Given the description of an element on the screen output the (x, y) to click on. 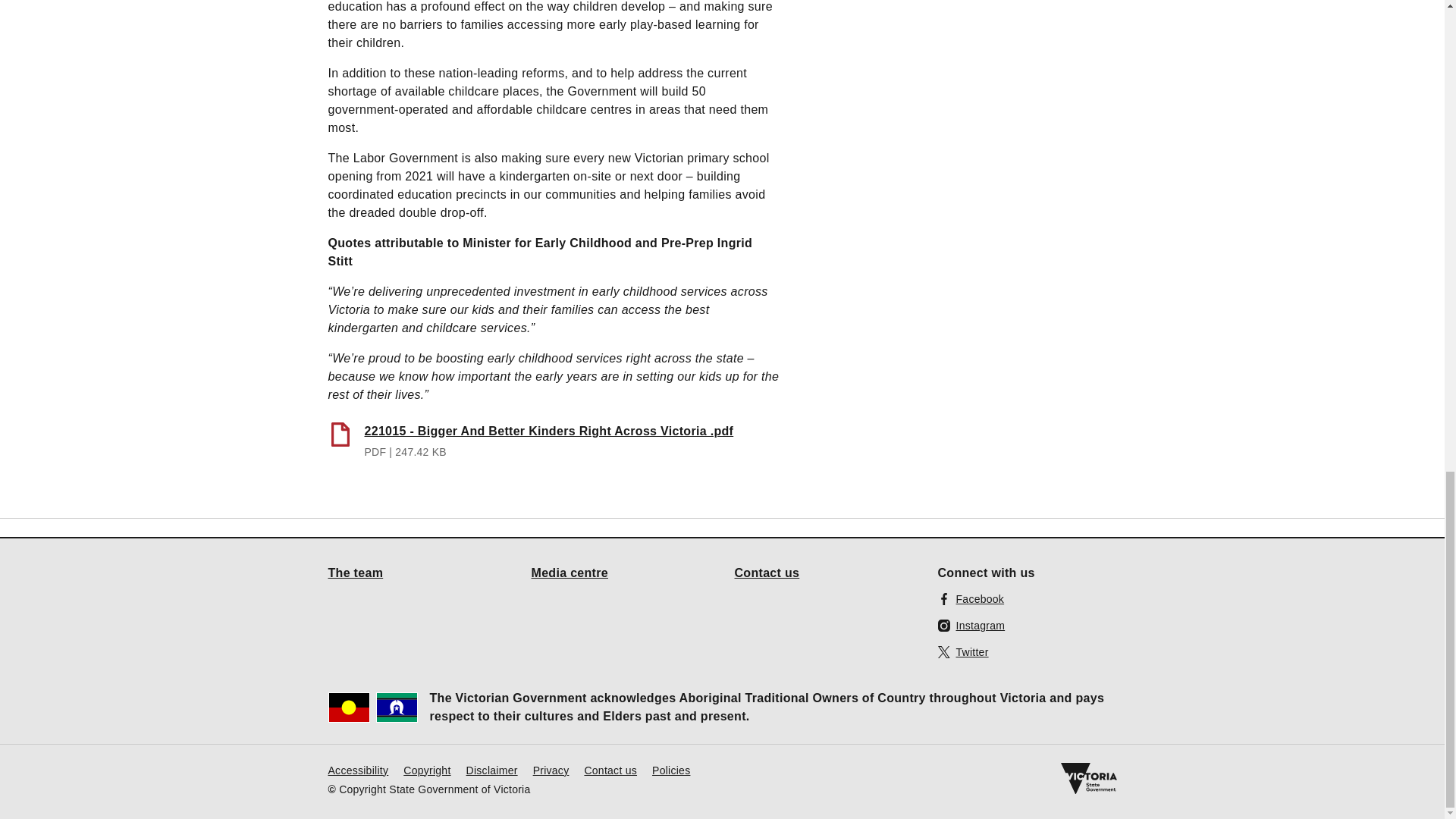
Media centre (569, 572)
Privacy (550, 769)
The team (354, 572)
Copyright (426, 769)
Policies (671, 769)
Instagram (970, 625)
Accessibility (357, 769)
Victoria government home (1087, 778)
Facebook (970, 598)
Disclaimer (491, 769)
Contact us (610, 769)
Contact us (766, 572)
Twitter (962, 651)
